Given the description of an element on the screen output the (x, y) to click on. 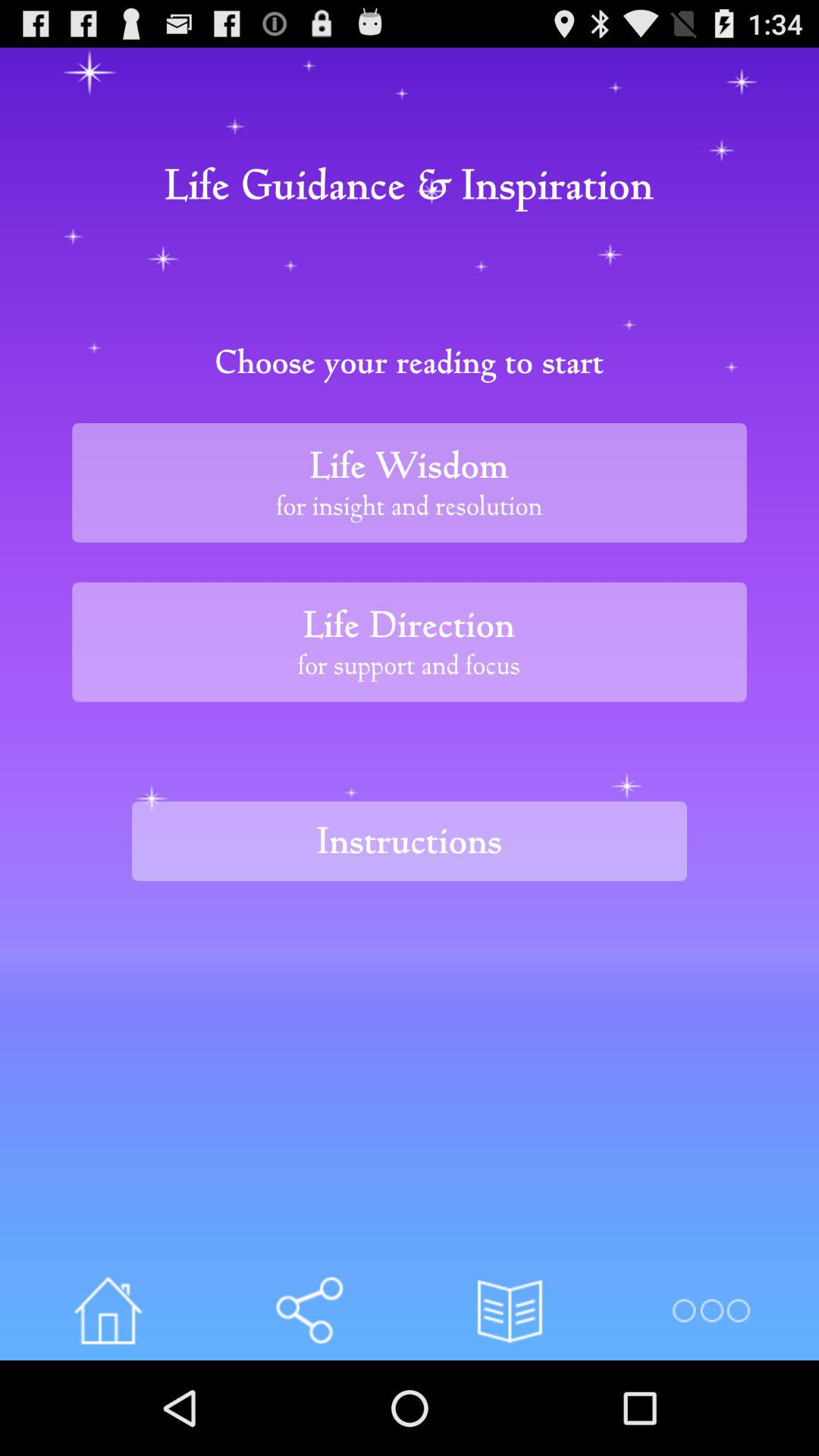
show more options (710, 1310)
